Given the description of an element on the screen output the (x, y) to click on. 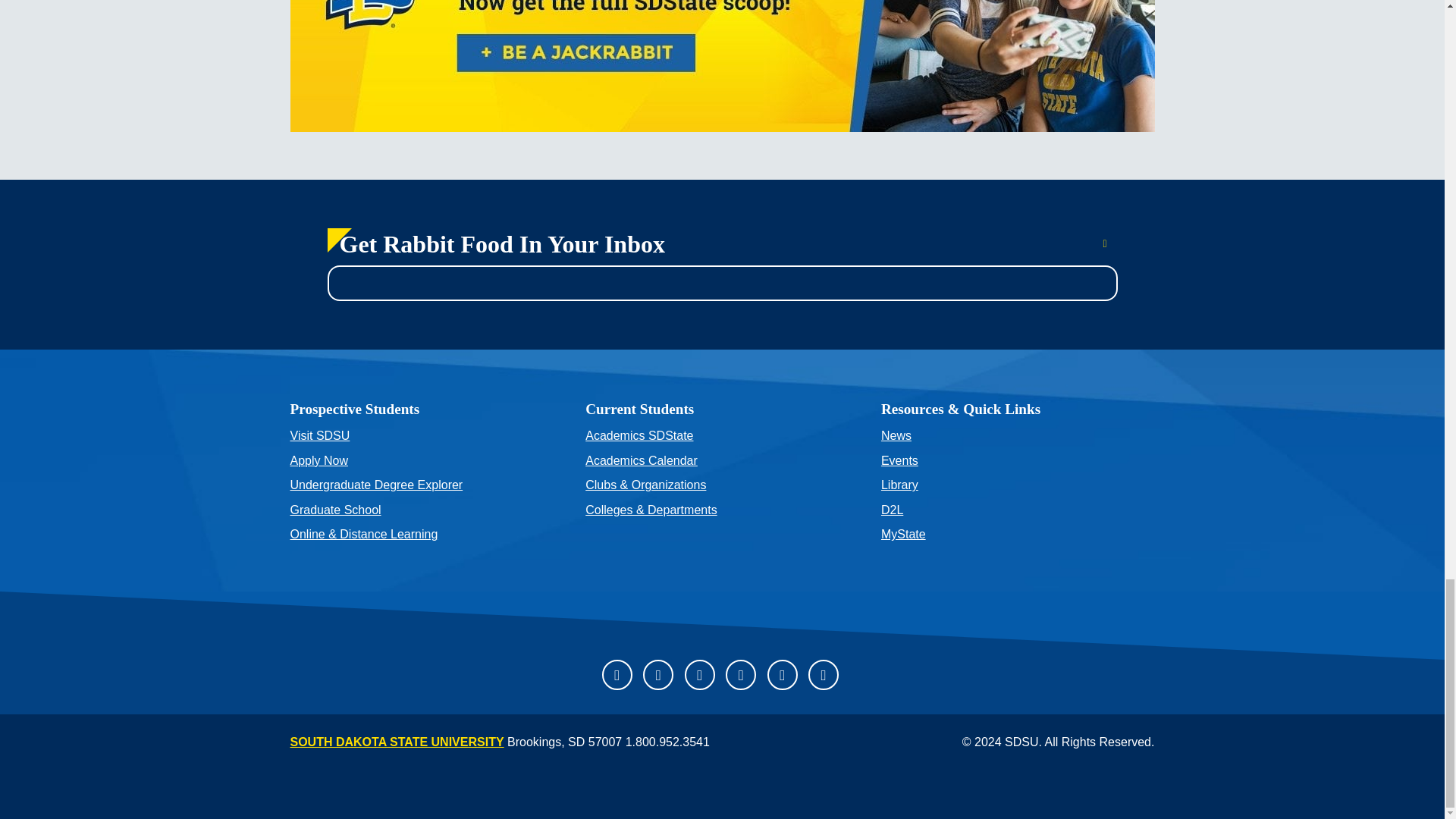
Subscribe (1101, 244)
Apply Now (426, 460)
Subscribe (1101, 244)
Visit SDSU (426, 436)
Undergraduate Degree Explorer (426, 485)
